Given the description of an element on the screen output the (x, y) to click on. 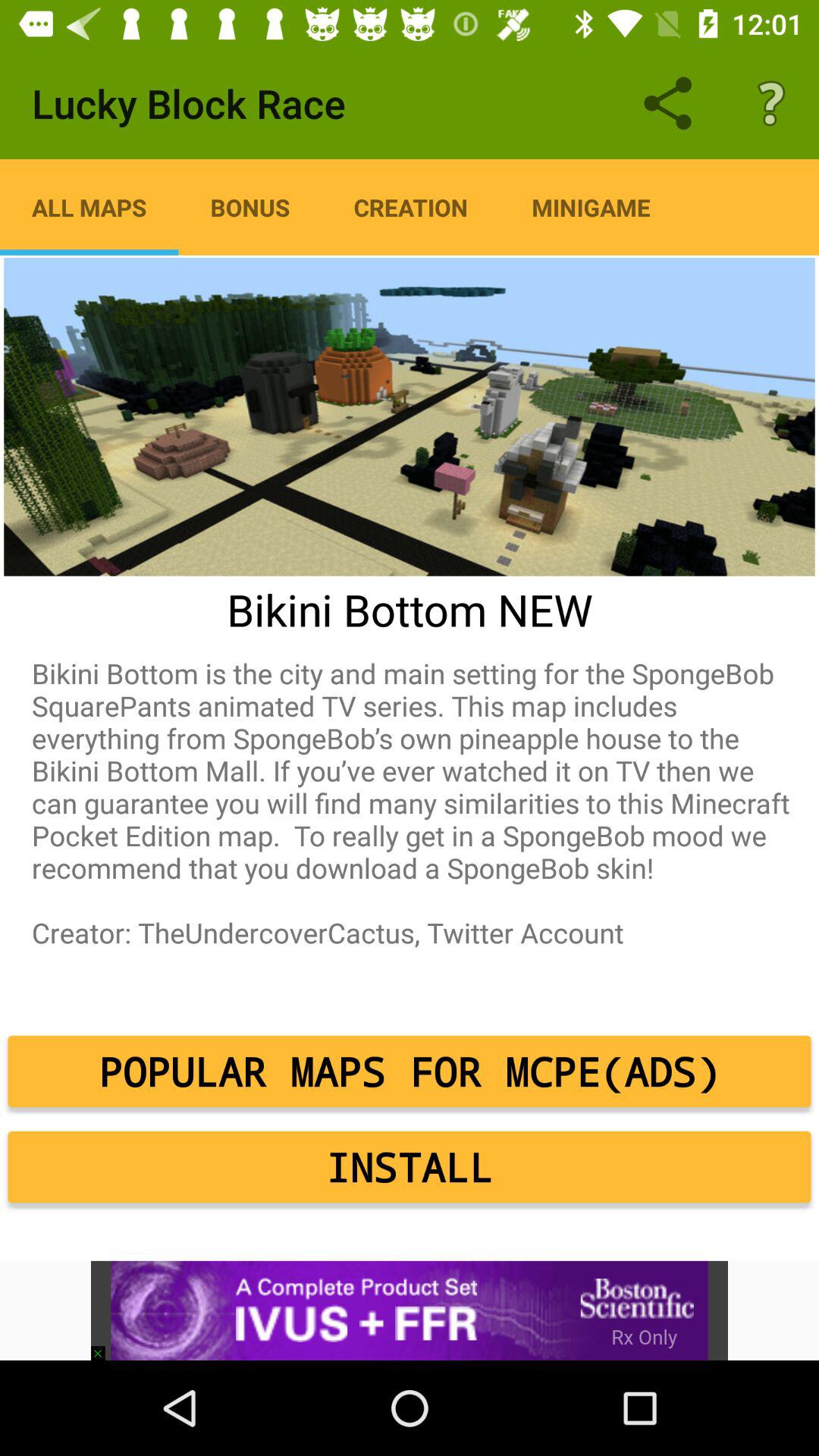
jump to all maps icon (89, 207)
